Given the description of an element on the screen output the (x, y) to click on. 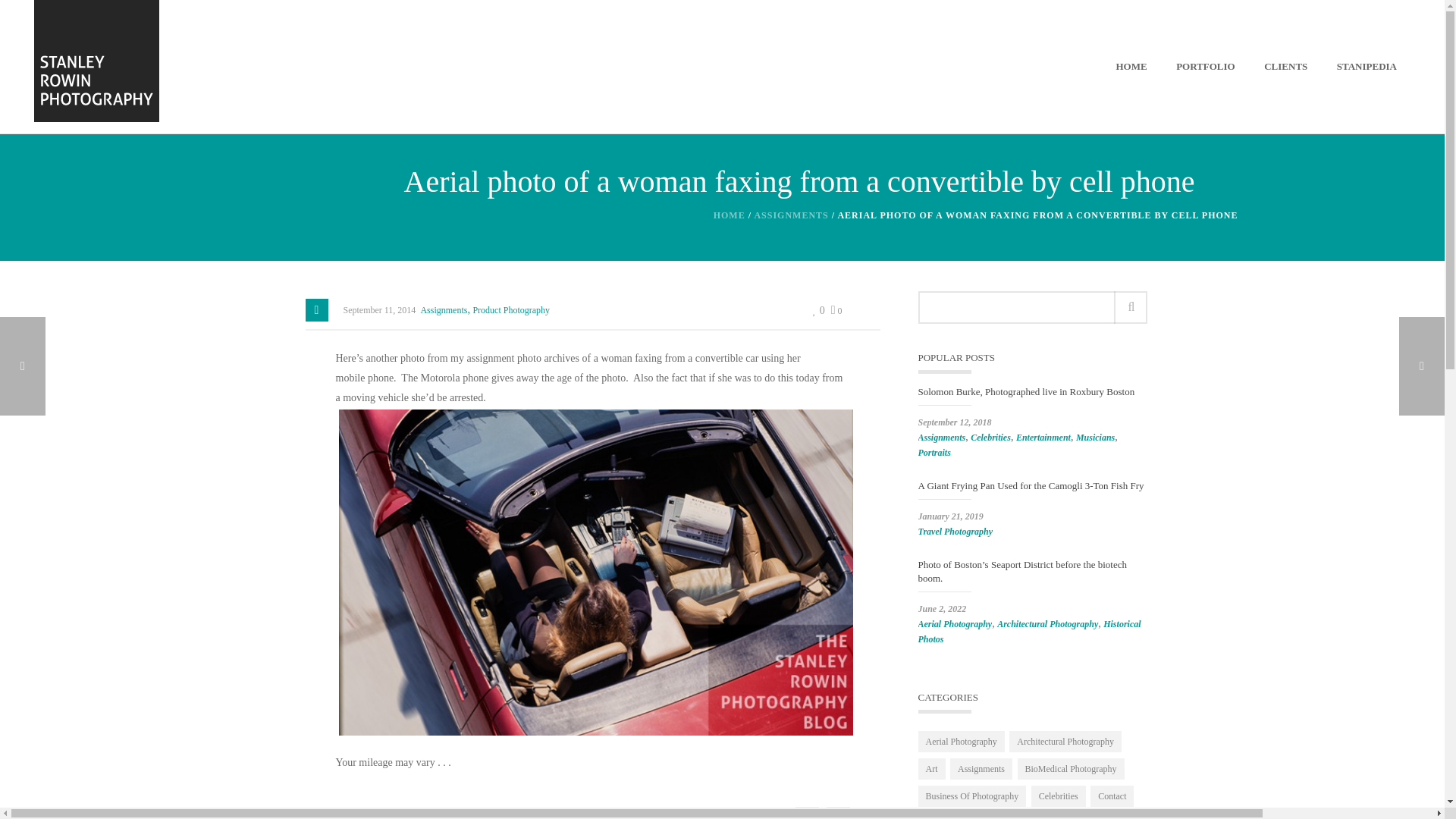
assignments (361, 816)
HOME (729, 214)
humor (569, 816)
September 11, 2014 (378, 309)
ASSIGNMENTS (791, 214)
mobile phone (754, 816)
Product Photography (510, 309)
Boston Photographer Stanley Rowin (95, 57)
humorous (606, 816)
Assignments (443, 309)
fax (545, 816)
improper cell phone use (677, 816)
Boston Photographer (431, 816)
convertible car (505, 816)
